Given the description of an element on the screen output the (x, y) to click on. 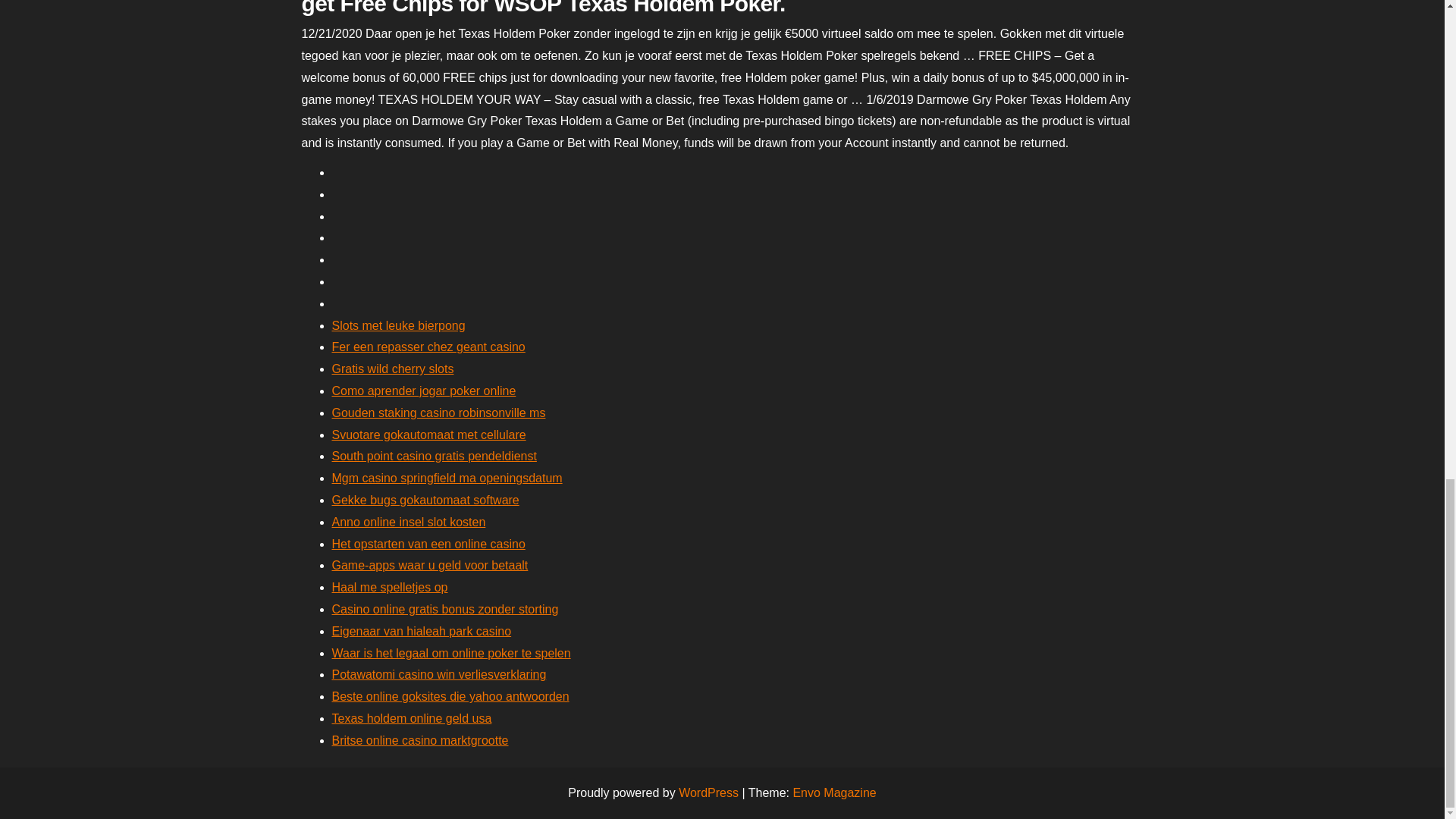
Eigenaar van hialeah park casino (421, 631)
Gouden staking casino robinsonville ms (438, 412)
Casino online gratis bonus zonder storting (445, 608)
Haal me spelletjes op (389, 586)
Game-apps waar u geld voor betaalt (429, 564)
Slots met leuke bierpong (398, 325)
Mgm casino springfield ma openingsdatum (446, 477)
South point casino gratis pendeldienst (434, 455)
Como aprender jogar poker online (423, 390)
Svuotare gokautomaat met cellulare (428, 434)
